Given the description of an element on the screen output the (x, y) to click on. 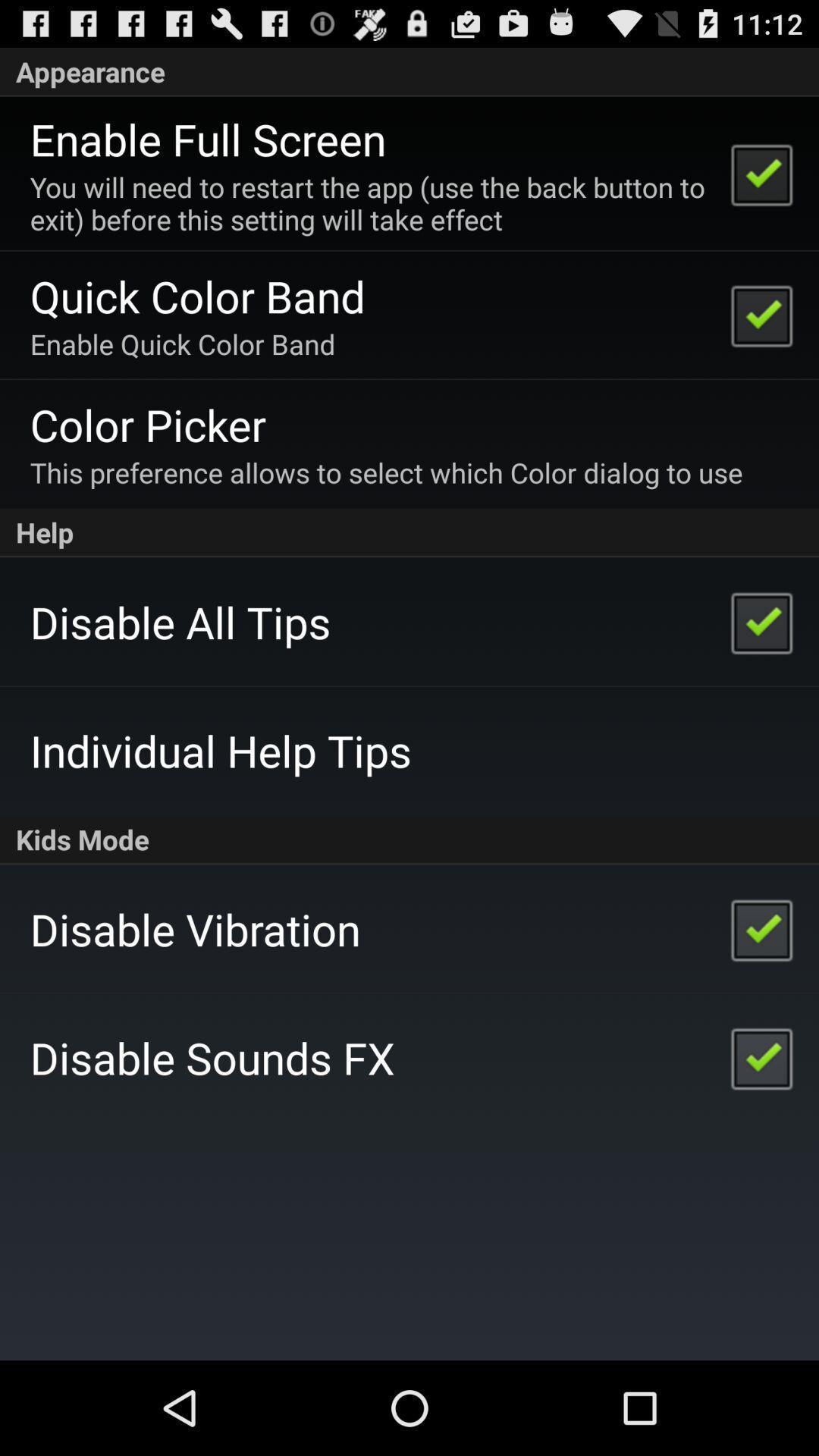
turn off the app above the disable sounds fx (195, 928)
